Given the description of an element on the screen output the (x, y) to click on. 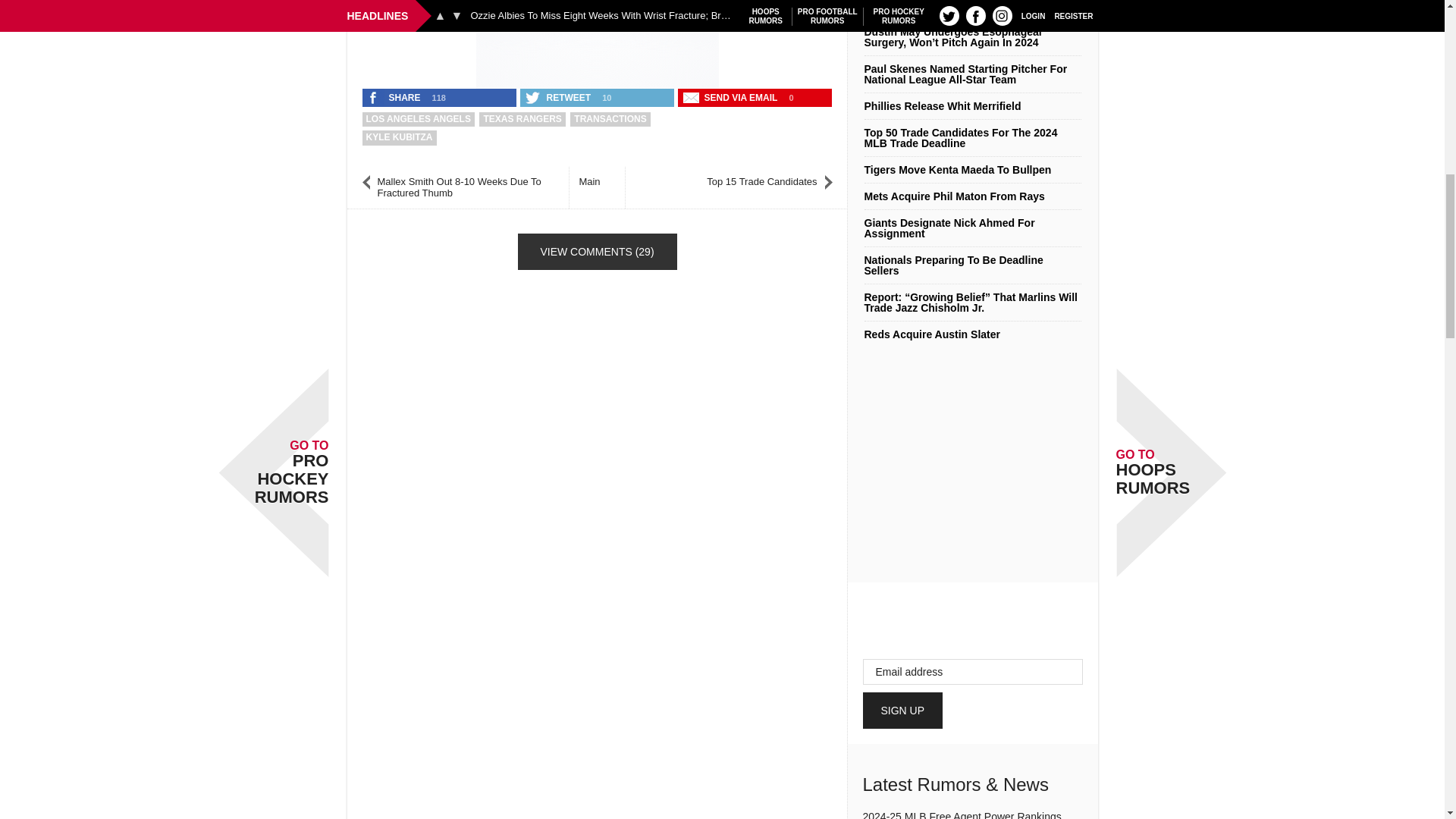
3rd party ad content (597, 40)
Retweet 'Rangers Acquire Kyle Kubitza' on Twitter (558, 97)
Share 'Rangers Acquire Kyle Kubitza' on Facebook (395, 97)
Send Rangers Acquire Kyle Kubitza with an email (732, 97)
Sign Up (903, 710)
